Given the description of an element on the screen output the (x, y) to click on. 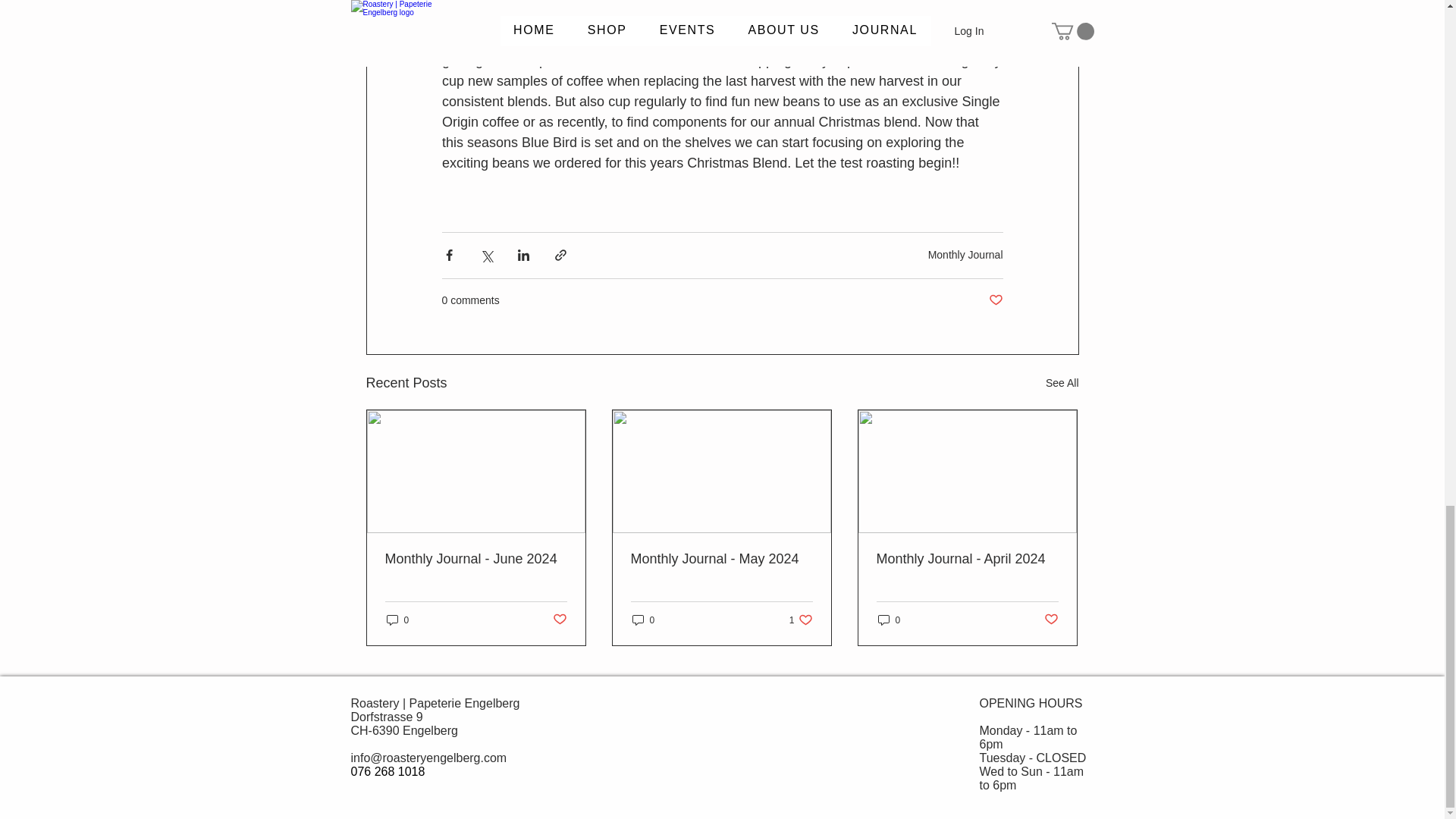
Monthly Journal - April 2024 (967, 559)
Post not marked as liked (558, 619)
Post not marked as liked (995, 300)
Monthly Journal - June 2024 (476, 559)
Monthly Journal - May 2024 (721, 559)
0 (800, 619)
See All (643, 619)
Monthly Journal (1061, 382)
0 (965, 254)
